Given the description of an element on the screen output the (x, y) to click on. 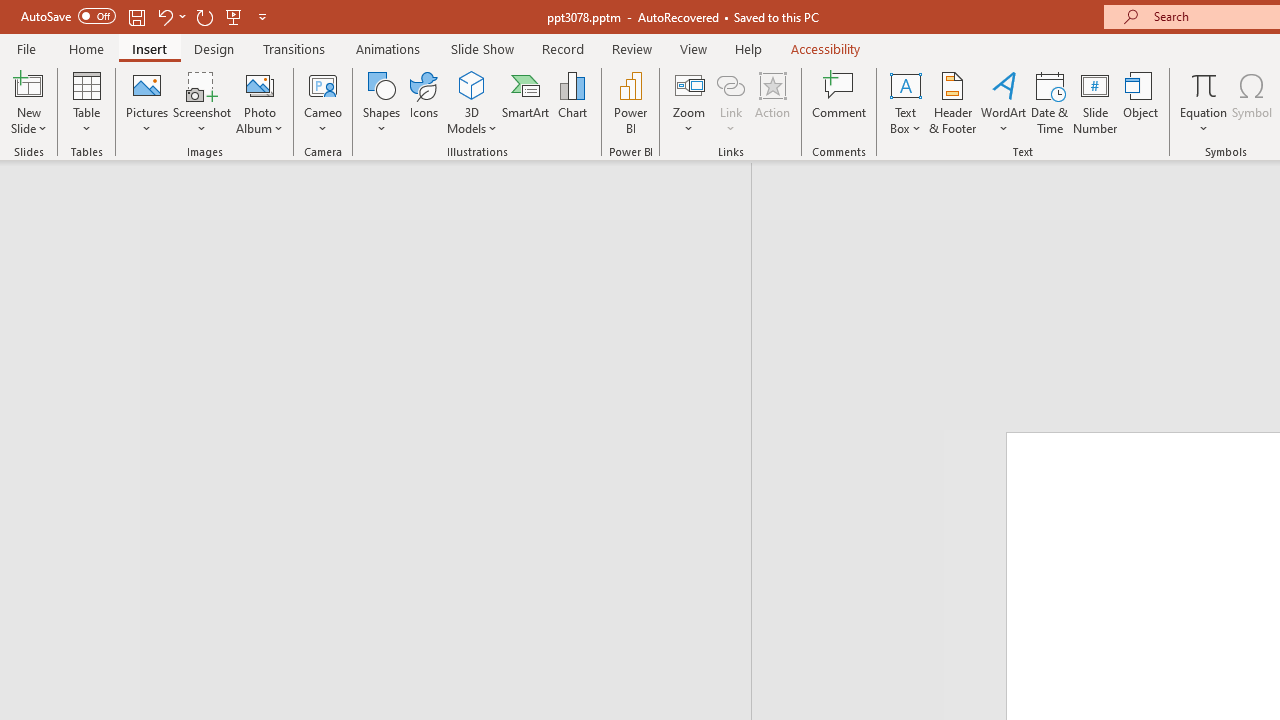
Link (731, 84)
Symbol... (1252, 102)
Link (731, 102)
Photo Album... (259, 102)
Comment (839, 102)
Date & Time... (1050, 102)
